Given the description of an element on the screen output the (x, y) to click on. 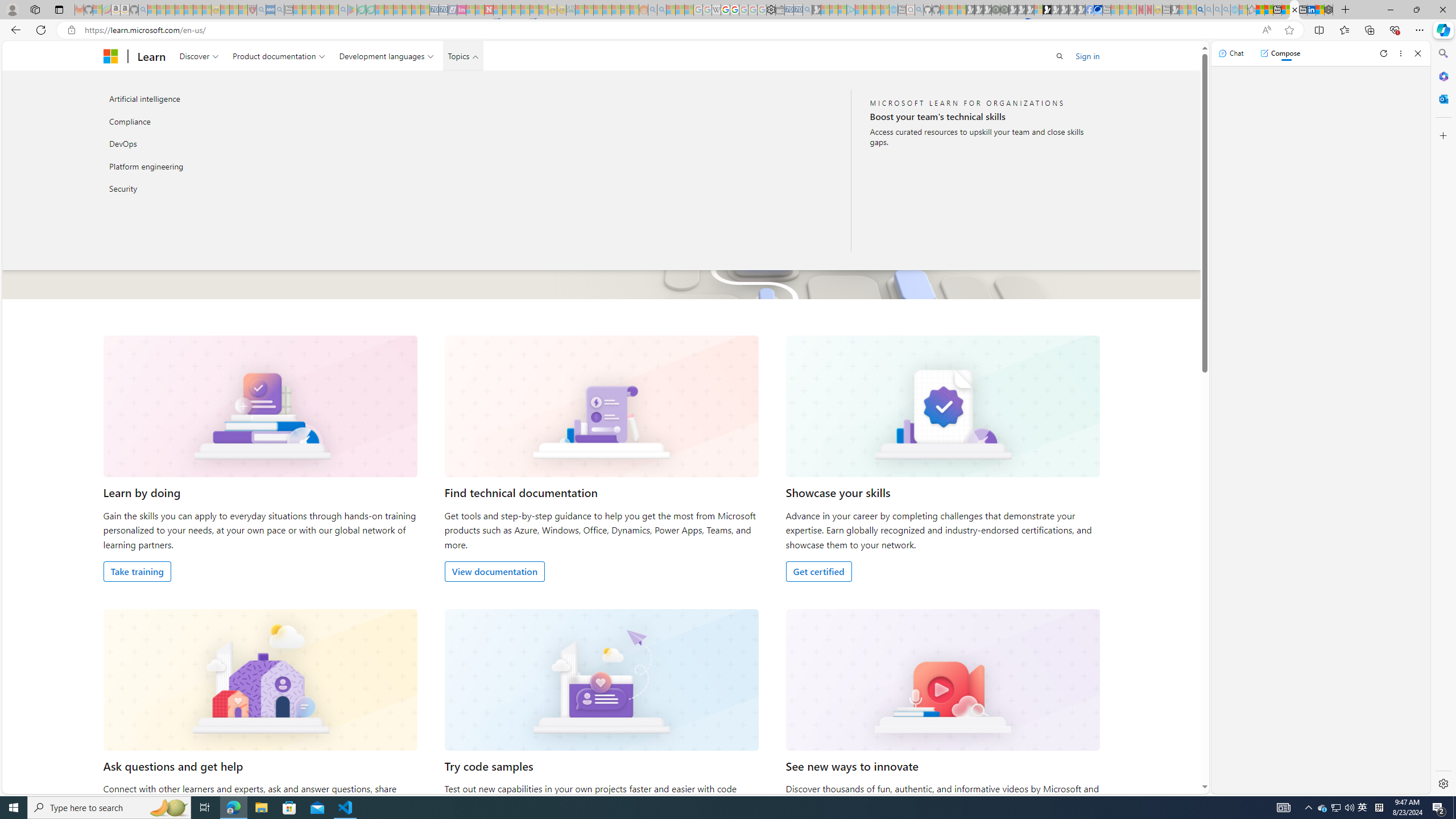
Security (224, 188)
Target page - Wikipedia - Sleeping (716, 9)
